Given the description of an element on the screen output the (x, y) to click on. 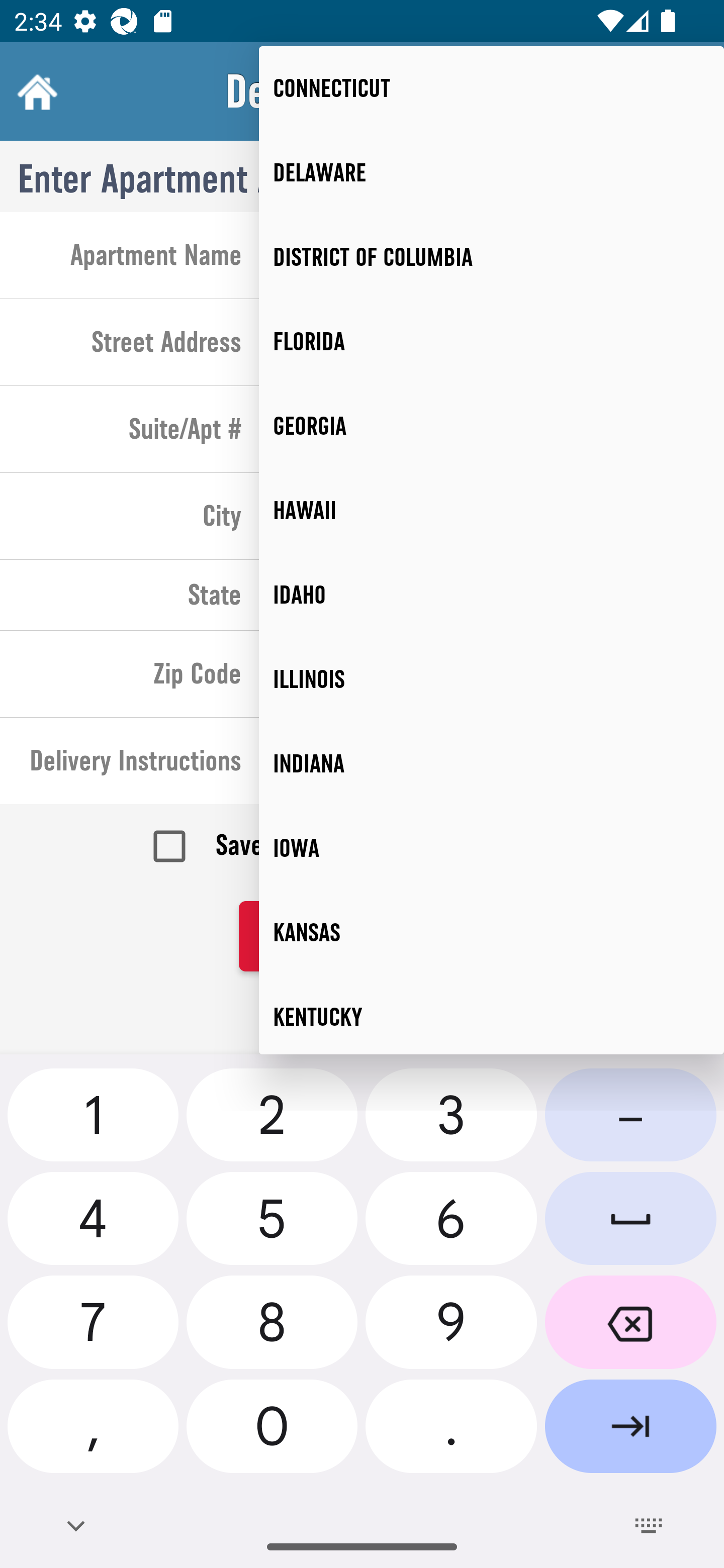
CONNECTICUT (491, 87)
DELAWARE (491, 172)
DISTRICT OF COLUMBIA (491, 256)
FLORIDA (491, 341)
GEORGIA (491, 426)
HAWAII (491, 510)
IDAHO (491, 594)
ILLINOIS (491, 678)
INDIANA (491, 763)
IOWA (491, 847)
KANSAS (491, 932)
KENTUCKY (491, 1014)
